Given the description of an element on the screen output the (x, y) to click on. 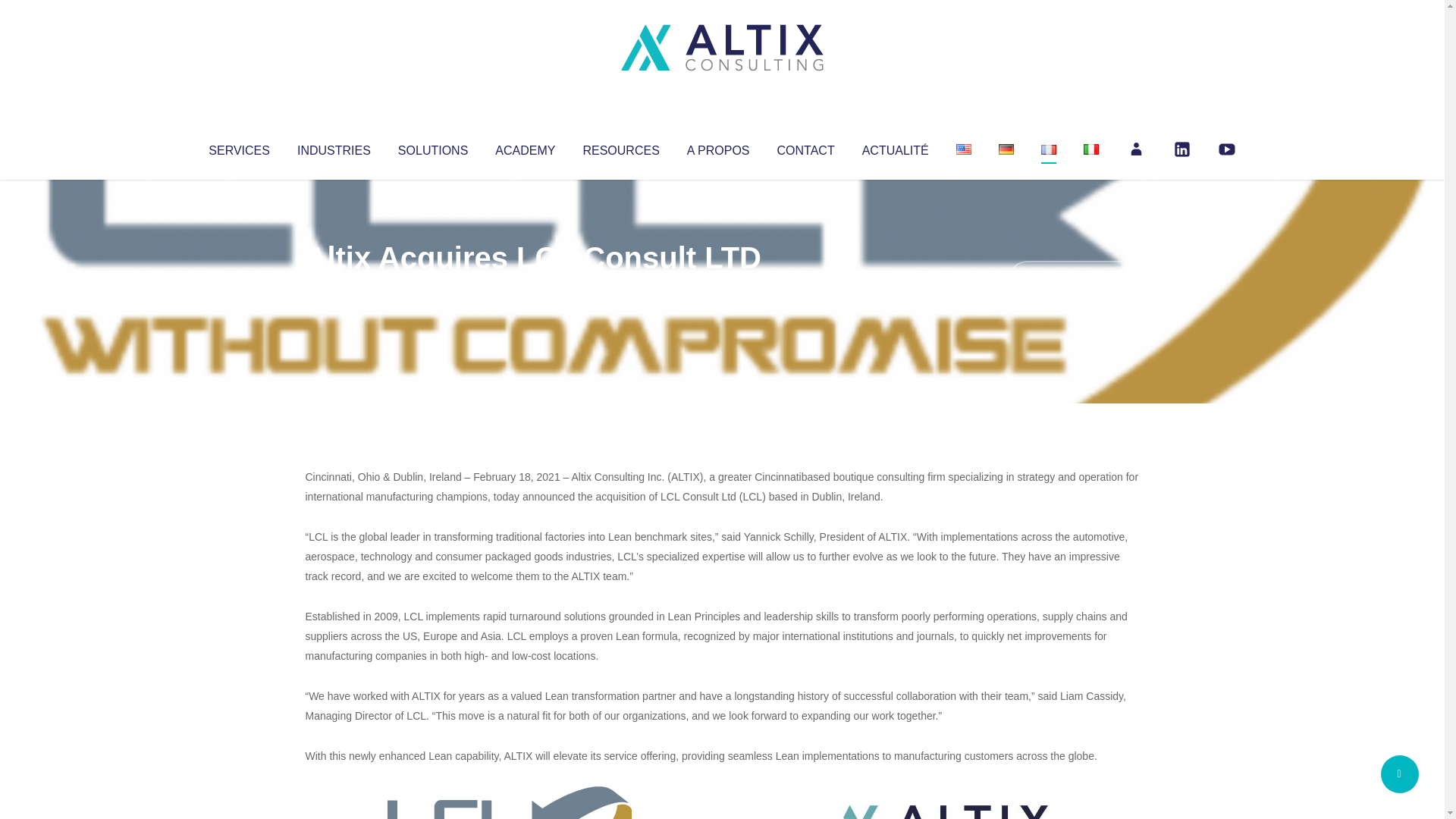
ACADEMY (524, 146)
INDUSTRIES (334, 146)
Uncategorized (530, 287)
Altix (333, 287)
RESOURCES (620, 146)
SOLUTIONS (432, 146)
Articles par Altix (333, 287)
SERVICES (238, 146)
No Comments (1073, 278)
A PROPOS (718, 146)
